Given the description of an element on the screen output the (x, y) to click on. 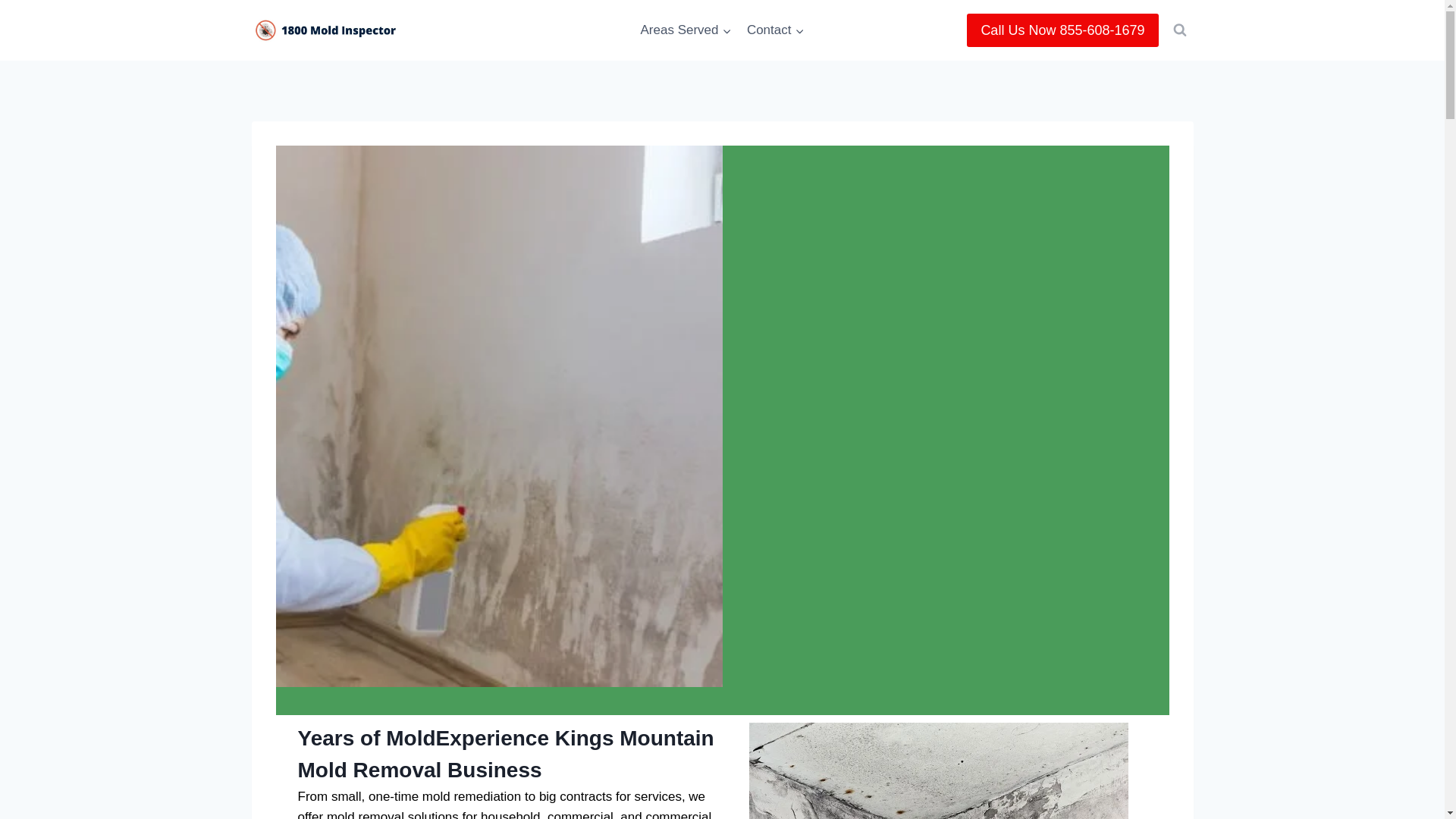
Call Us Now 855-608-1679 (1061, 29)
Areas Served (684, 30)
Contact (775, 30)
